Given the description of an element on the screen output the (x, y) to click on. 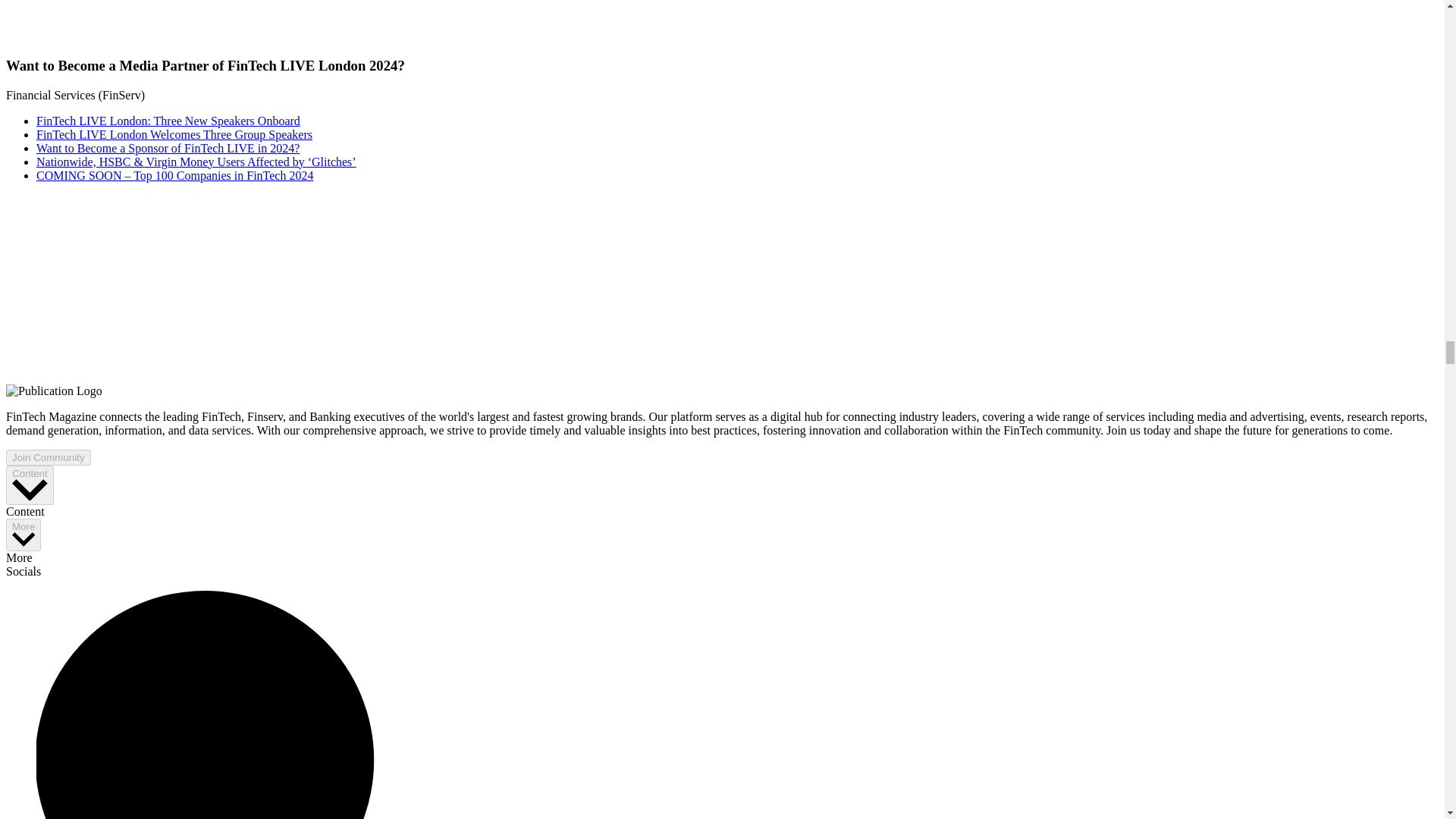
Content (29, 486)
Join Community (47, 457)
